Given the description of an element on the screen output the (x, y) to click on. 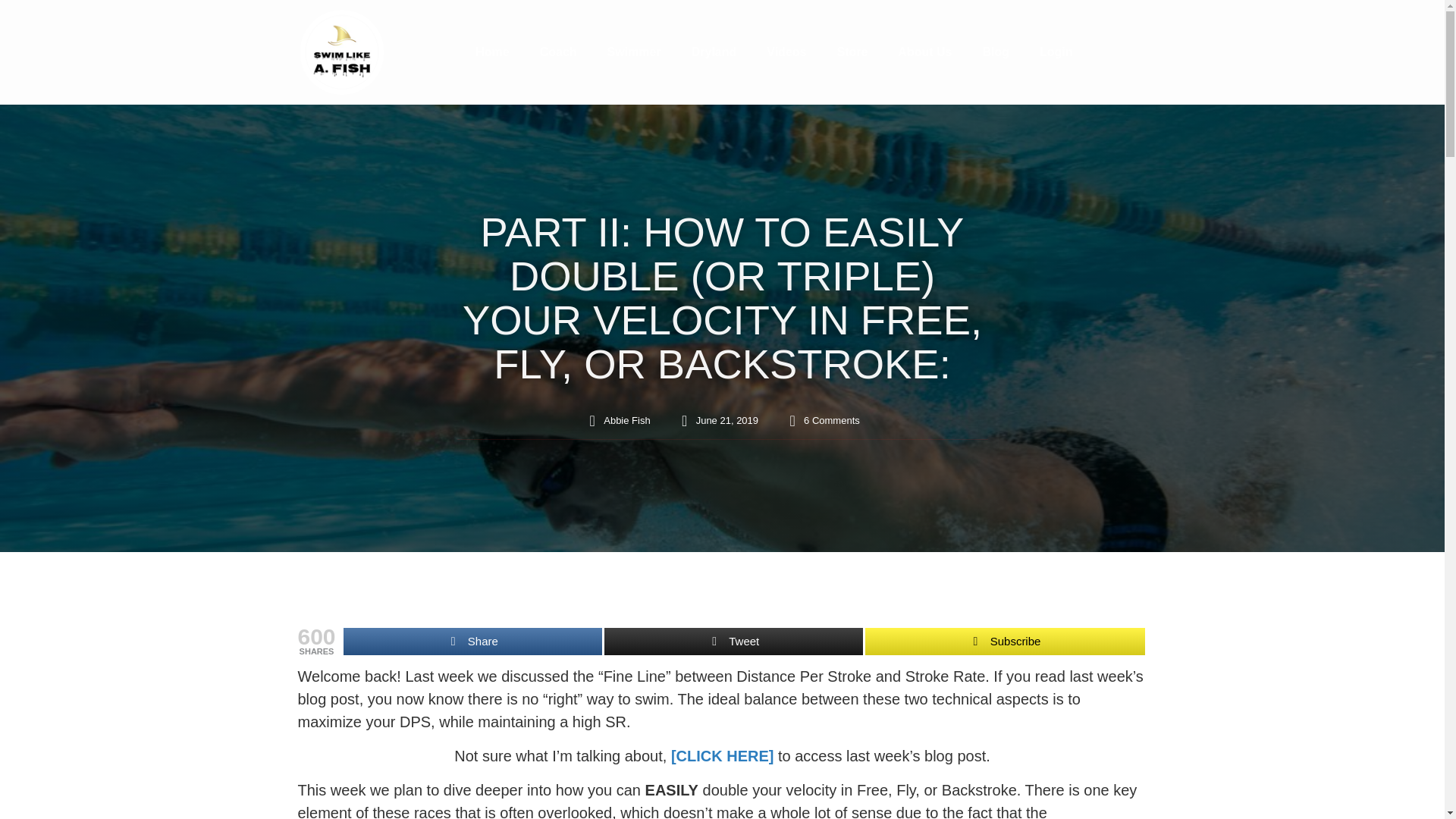
Dryland (714, 52)
Store (851, 52)
Login (1056, 52)
Blog (995, 52)
Swimmer (634, 52)
Coach (558, 52)
About Us (924, 52)
Home (492, 52)
Videos (786, 52)
